Given the description of an element on the screen output the (x, y) to click on. 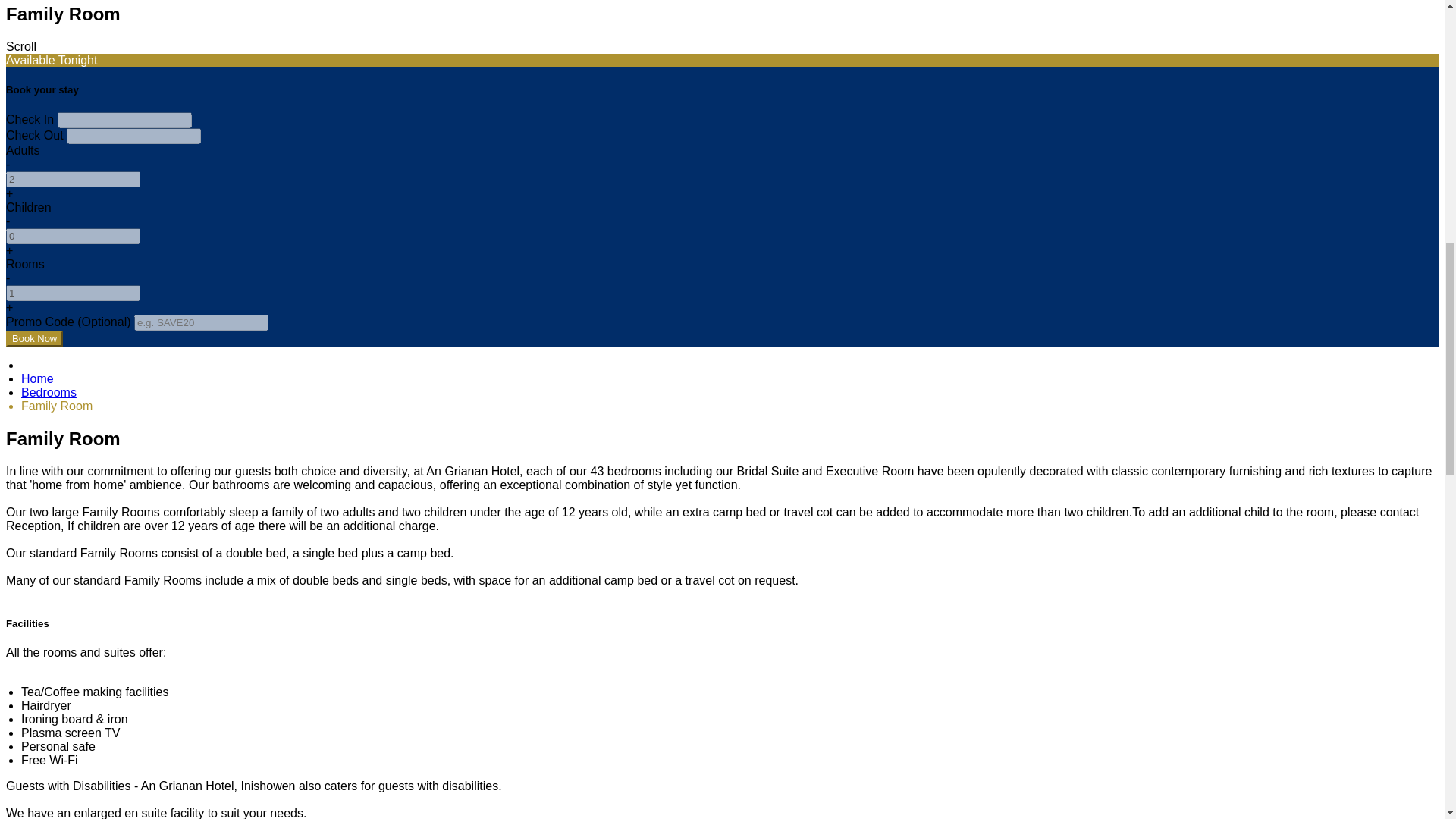
0 (72, 236)
Book Now (33, 338)
1 (72, 293)
2 (72, 179)
